Given the description of an element on the screen output the (x, y) to click on. 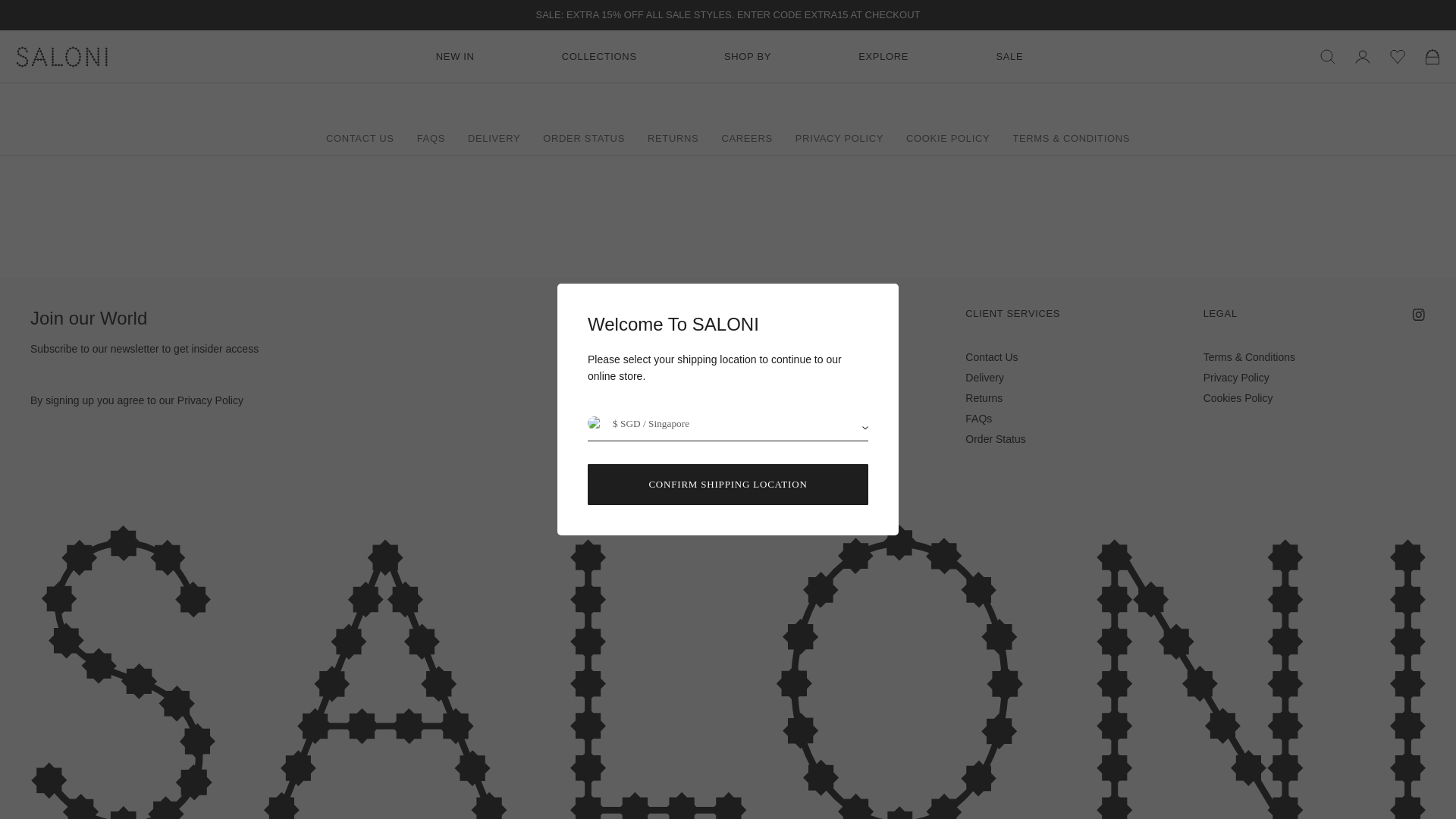
COLLECTIONS (599, 56)
PRIVACY POLICY (210, 399)
SHOP BY (747, 56)
SALONI (79, 55)
